Given the description of an element on the screen output the (x, y) to click on. 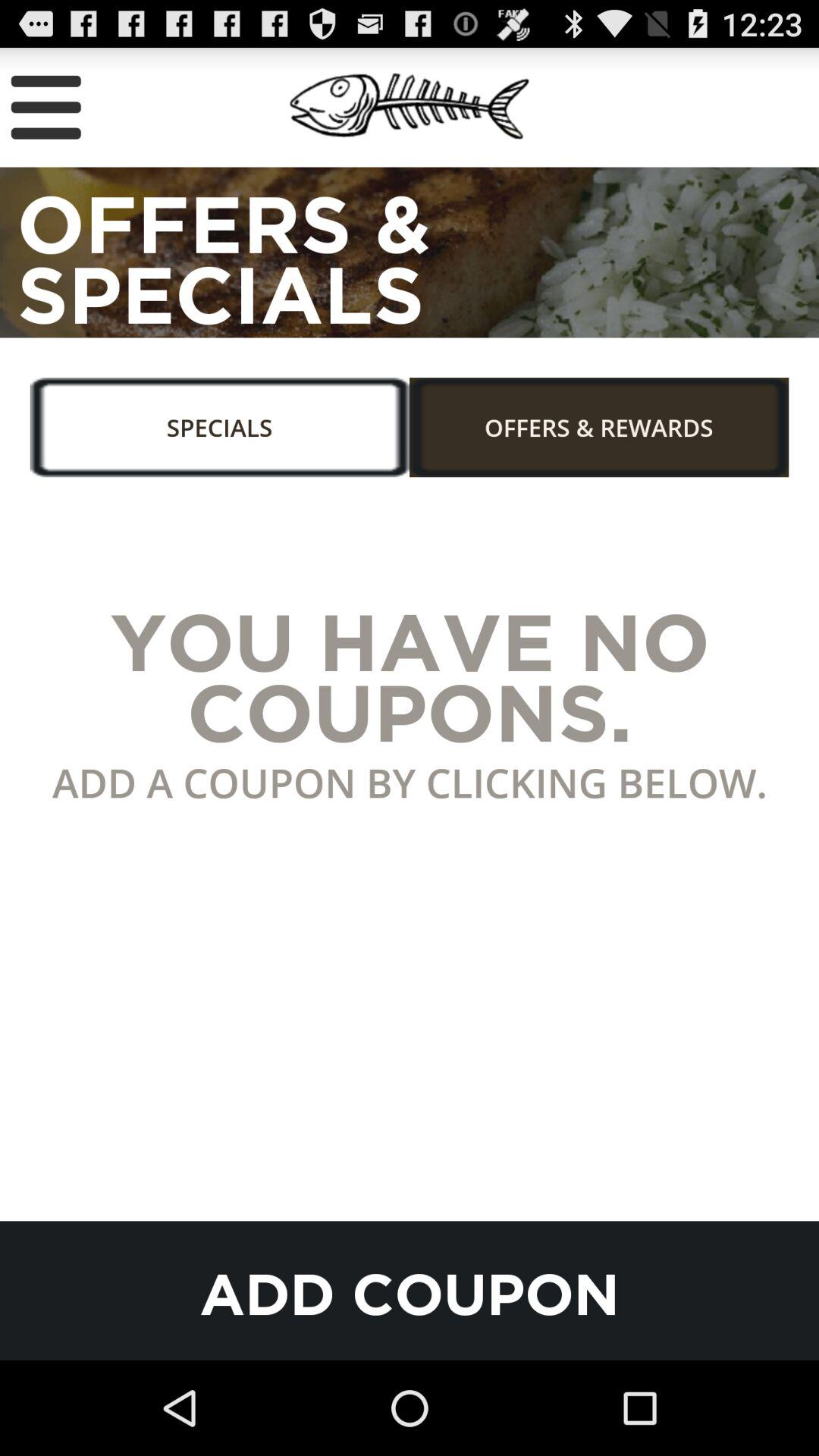
click on the text on the left of  offers  rewards (230, 435)
